Given the description of an element on the screen output the (x, y) to click on. 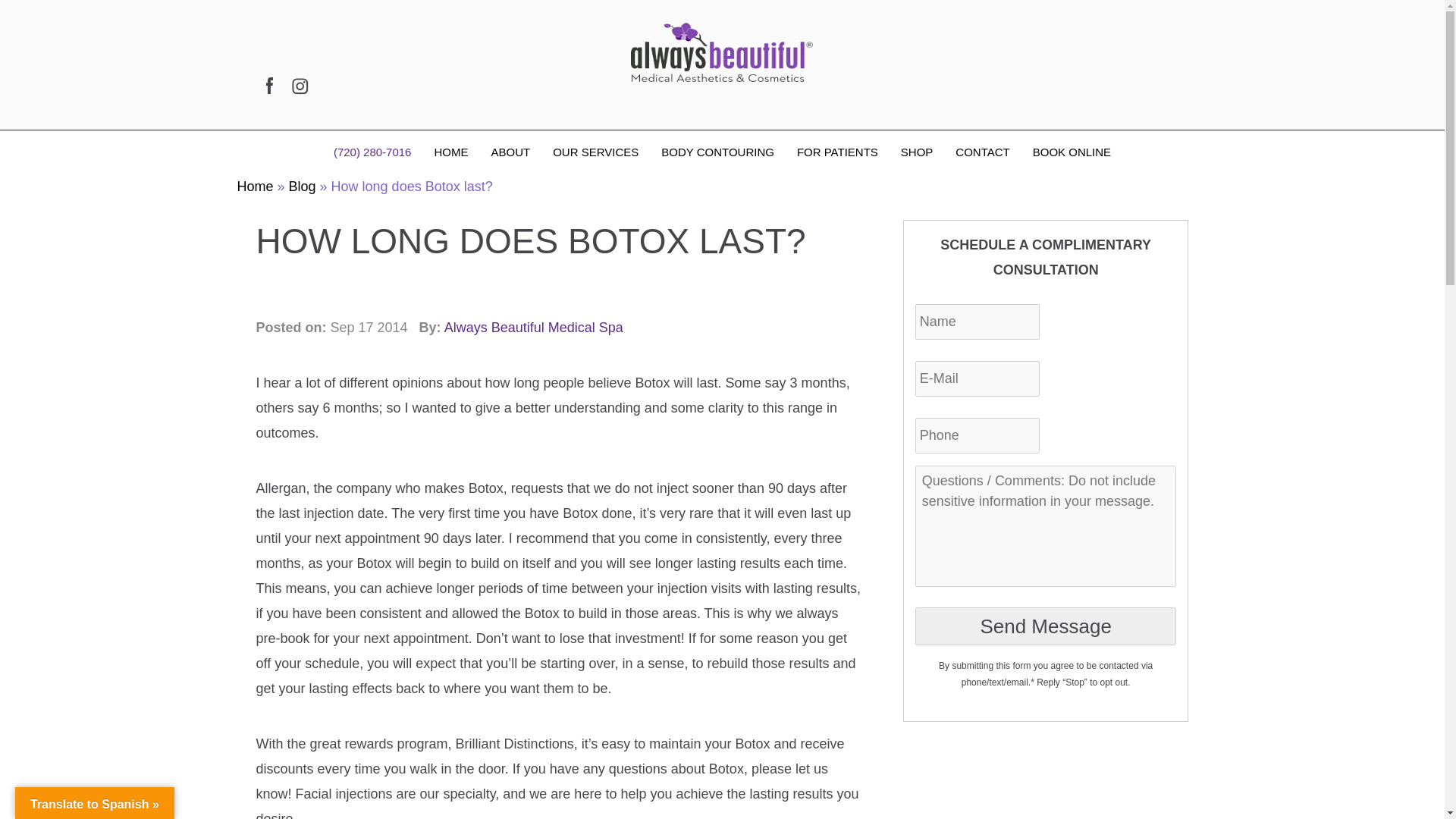
Posts by Always Beautiful Medical Spa (533, 327)
ABOUT (510, 152)
OUR SERVICES (595, 152)
HOME (450, 152)
Send Message (1045, 626)
